Given the description of an element on the screen output the (x, y) to click on. 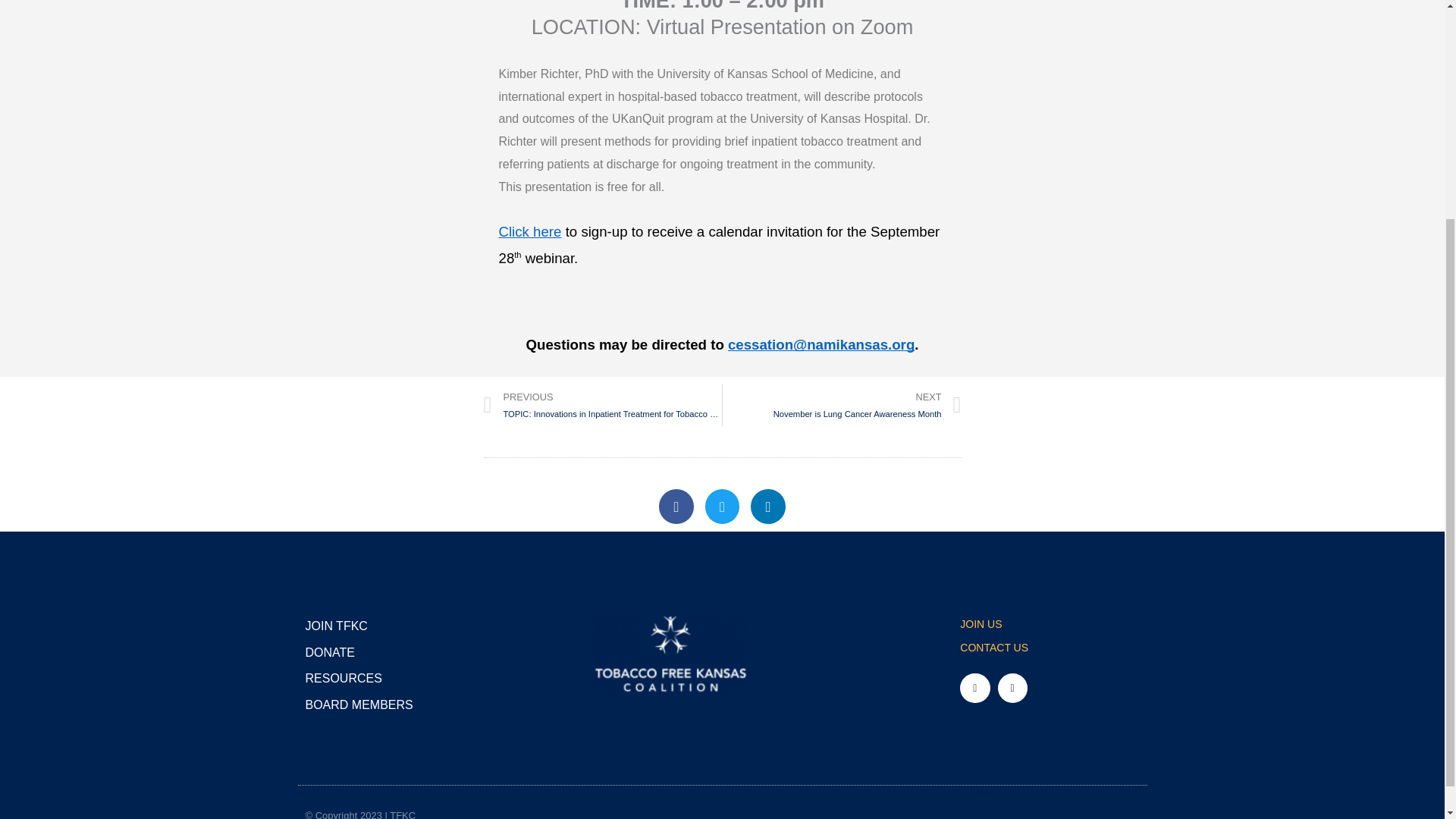
Linkedin-in (768, 506)
JOIN TFKC (368, 626)
JOIN US (1048, 624)
CONTACT US (841, 405)
BOARD MEMBERS (1048, 648)
DONATE (368, 704)
Facebook-f (368, 652)
Twitter (676, 506)
